Given the description of an element on the screen output the (x, y) to click on. 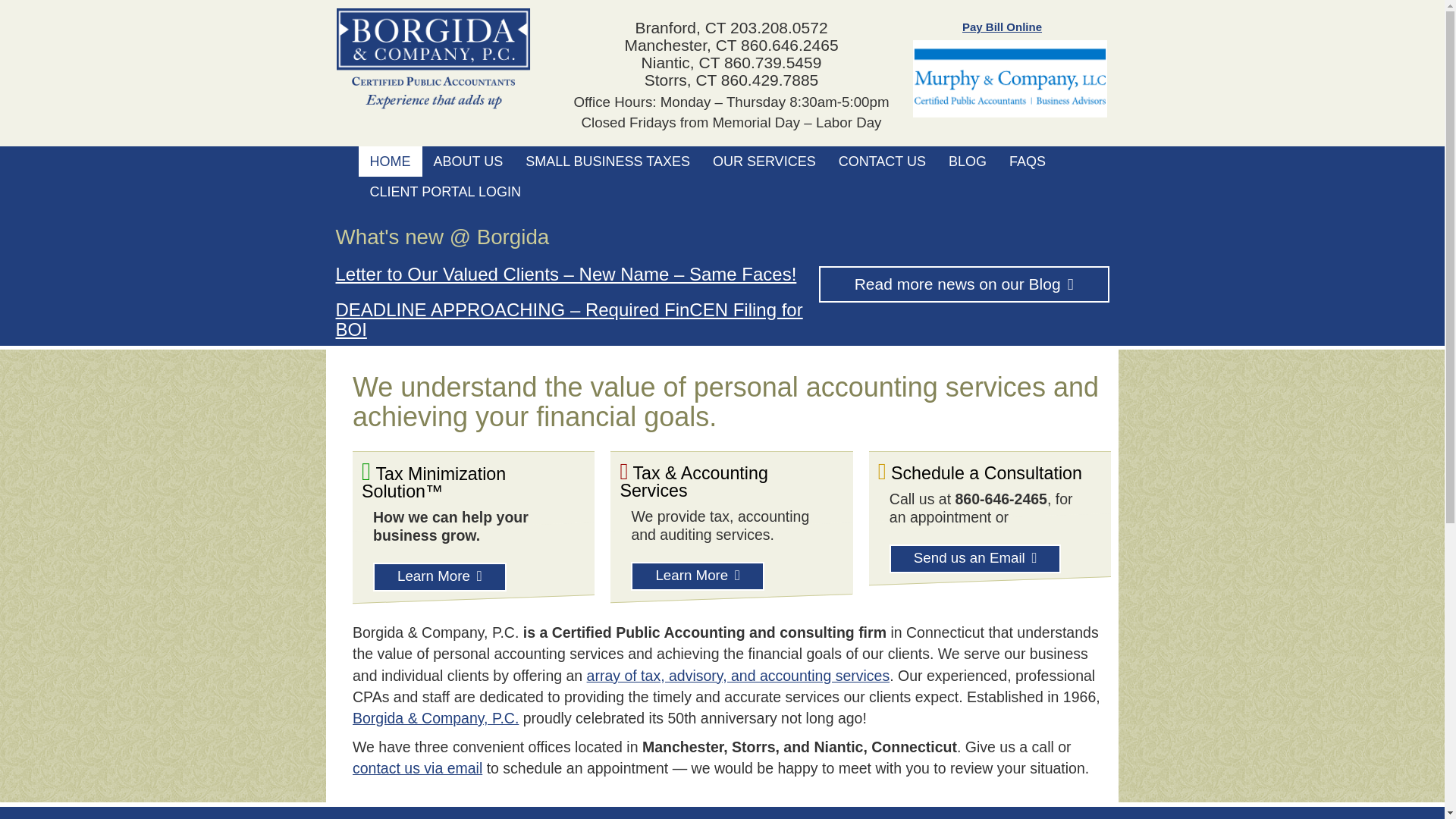
ABOUT US (467, 161)
CLIENT PORTAL LOGIN (444, 191)
Learn More (439, 576)
FAQS (1027, 161)
About Us (467, 161)
SMALL BUSINESS TAXES (607, 161)
Pay Bill Online (1002, 26)
HOME (390, 161)
Learn More (697, 575)
Send us an Email (975, 558)
BLOG (967, 161)
array of tax, advisory, and accounting services (737, 675)
contact us via email (416, 768)
Read more news on our Blog (963, 284)
Small Business Taxes (607, 161)
